Given the description of an element on the screen output the (x, y) to click on. 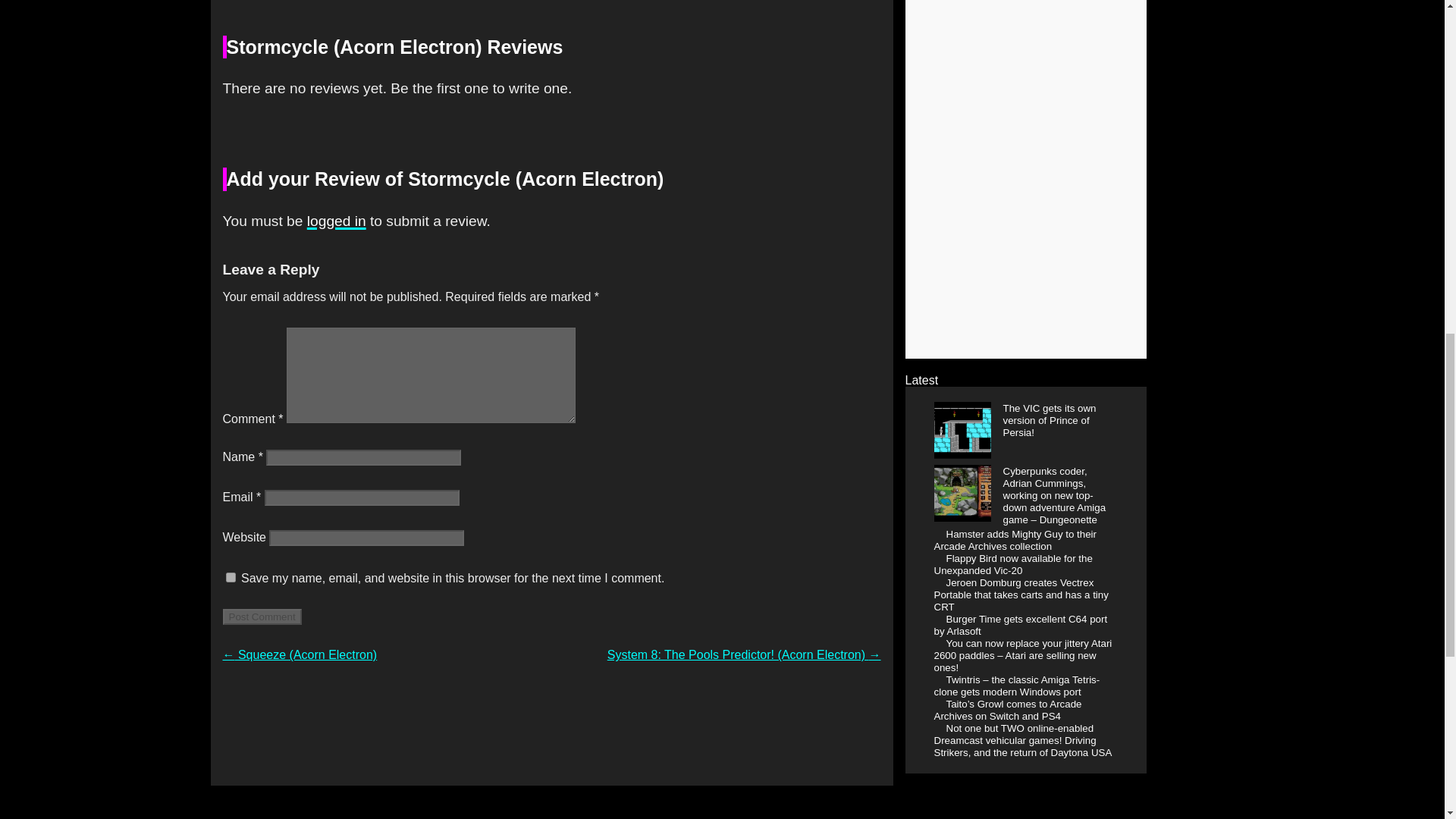
Post Comment (261, 616)
yes (230, 577)
Post Comment (261, 616)
logged in (336, 220)
